Given the description of an element on the screen output the (x, y) to click on. 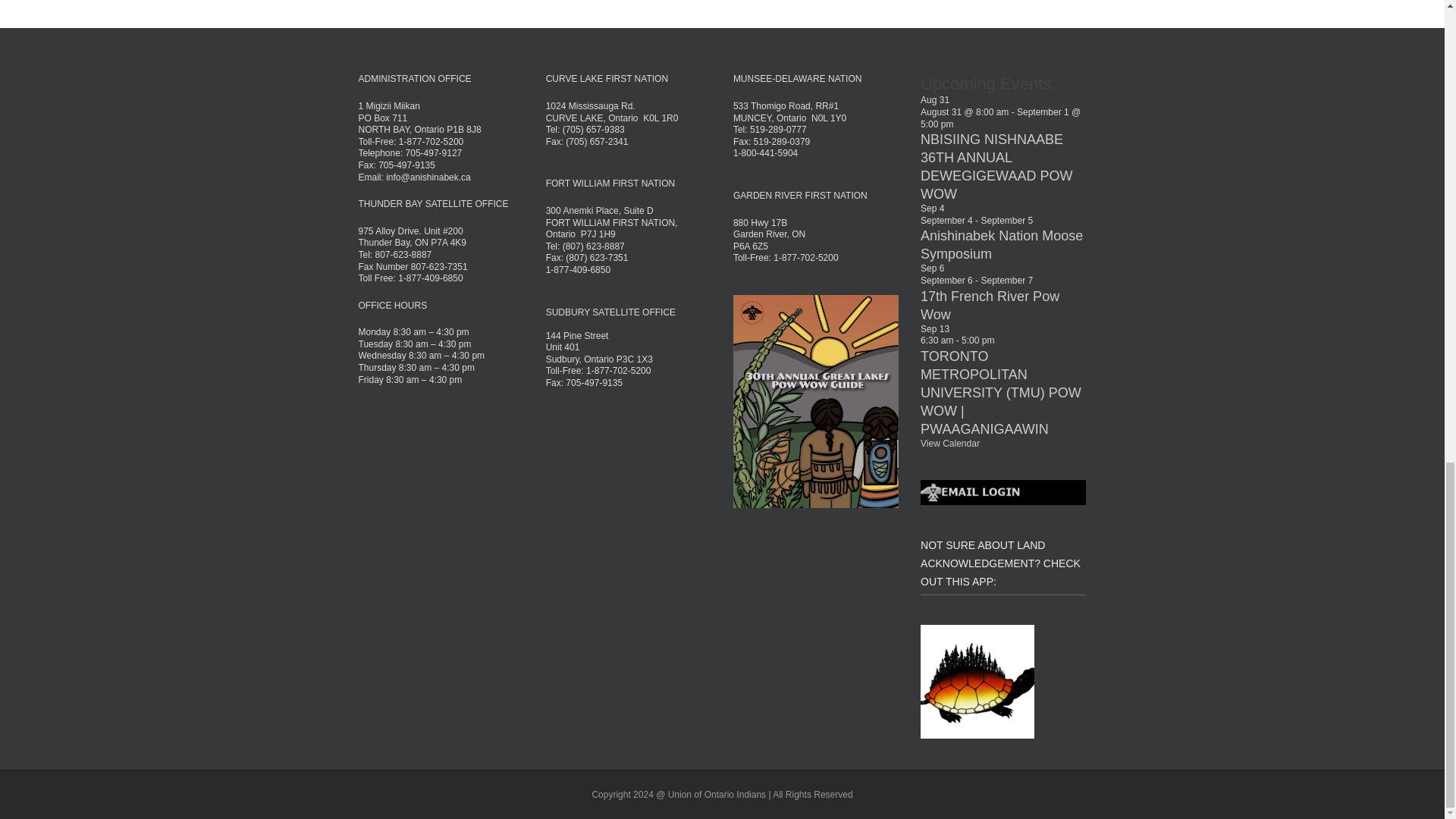
17th French River Pow Wow (989, 305)
View more events. (949, 443)
Anishinabek Nation Moose Symposium (1001, 244)
NBISIING NISHNAABE 36TH ANNUAL DEWEGIGEWAAD POW WOW (995, 166)
